Given the description of an element on the screen output the (x, y) to click on. 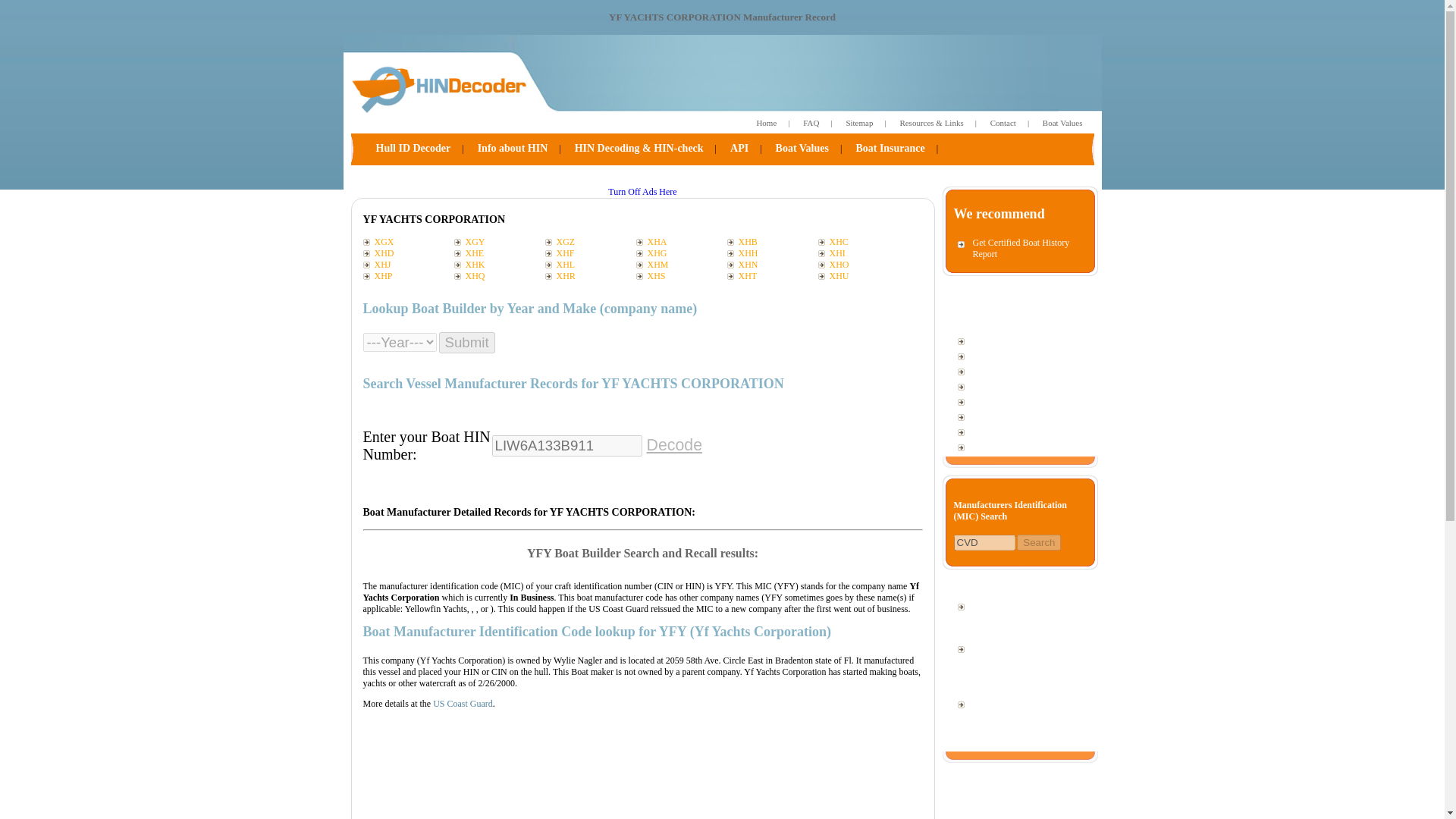
Home (765, 123)
XGY HIN decoder (498, 242)
Decode (674, 444)
HIN Decoder Home (765, 123)
XHH (771, 253)
XHM (680, 265)
Hull ID Decoder (412, 148)
XHD (407, 253)
Contact HIN Decoder (1002, 123)
Sitemap (858, 123)
